Given the description of an element on the screen output the (x, y) to click on. 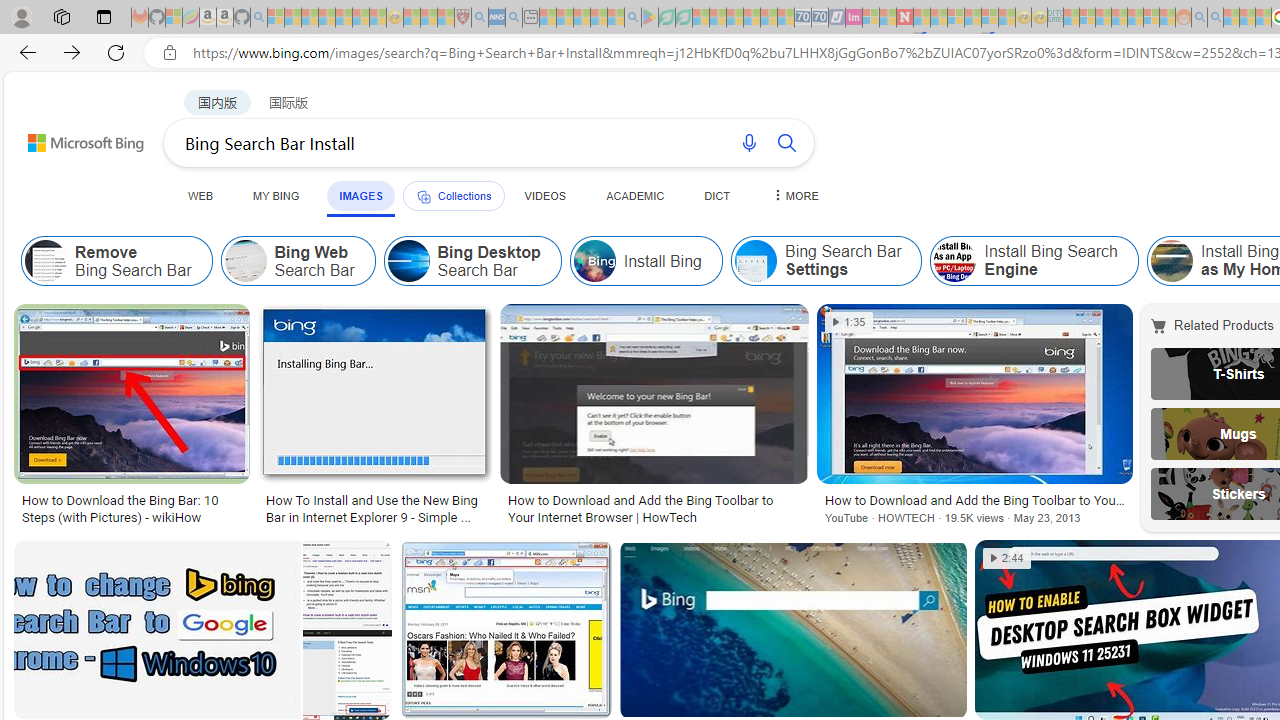
Image result for Bing Search Bar Install (792, 629)
1:35 (849, 322)
Bing Web Search Bar (298, 260)
Install Bing Search Engine (1033, 260)
Install Bing as My Homepage (1170, 260)
